Given the description of an element on the screen output the (x, y) to click on. 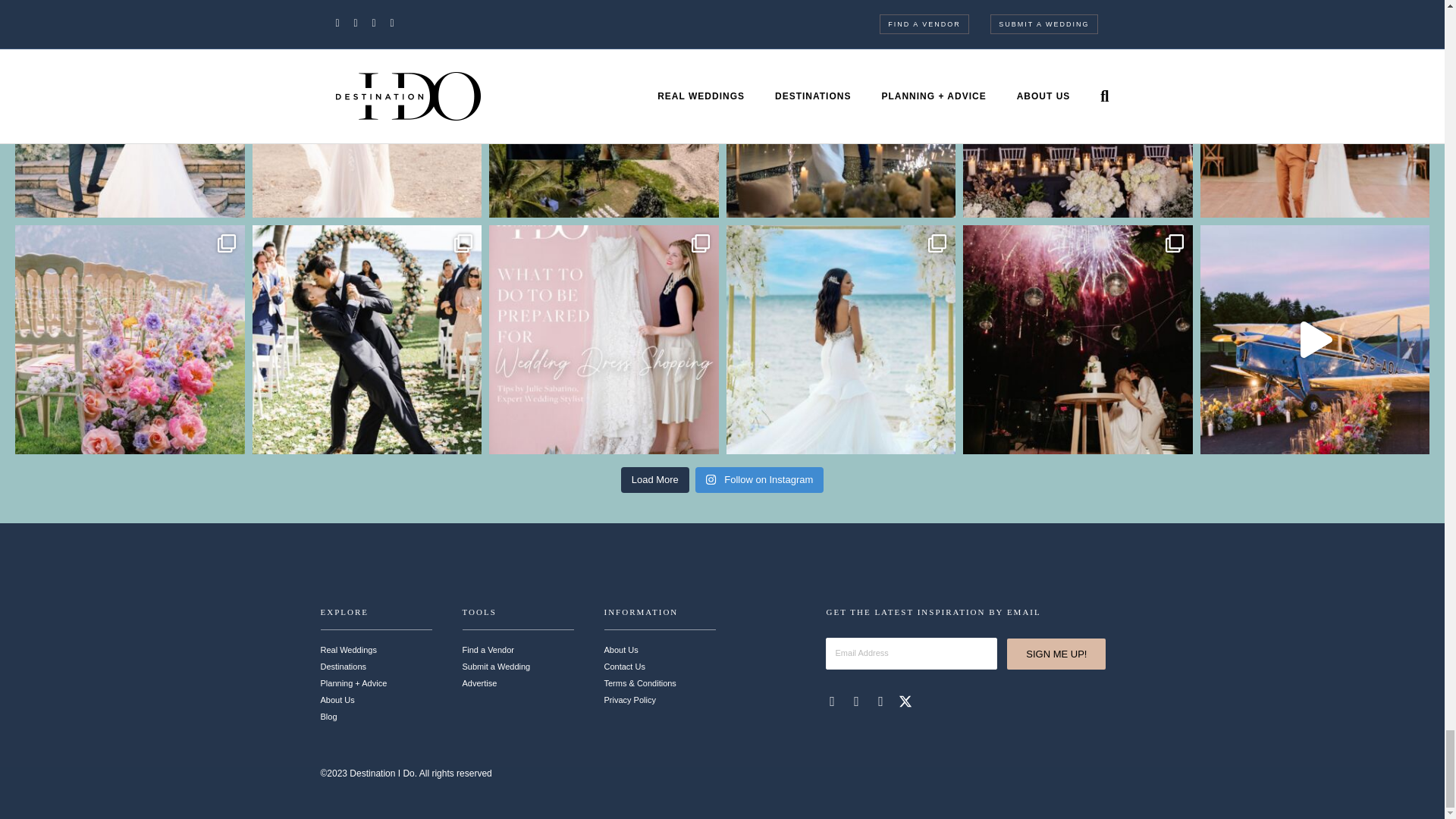
Sign Me Up! (1056, 653)
Facebook (832, 701)
